Given the description of an element on the screen output the (x, y) to click on. 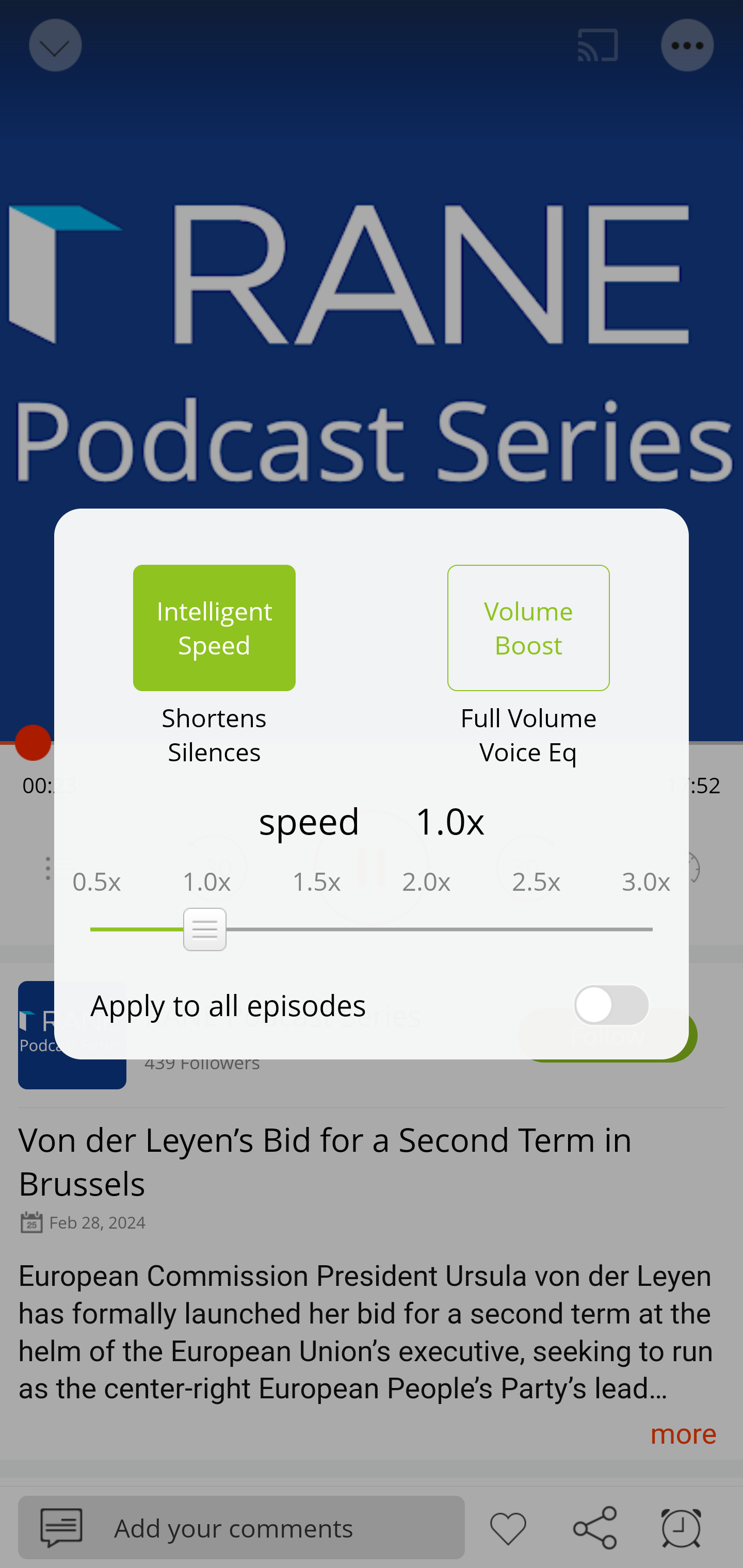
Intelligent
Speed (213, 627)
Volume
Boost (528, 627)
